Given the description of an element on the screen output the (x, y) to click on. 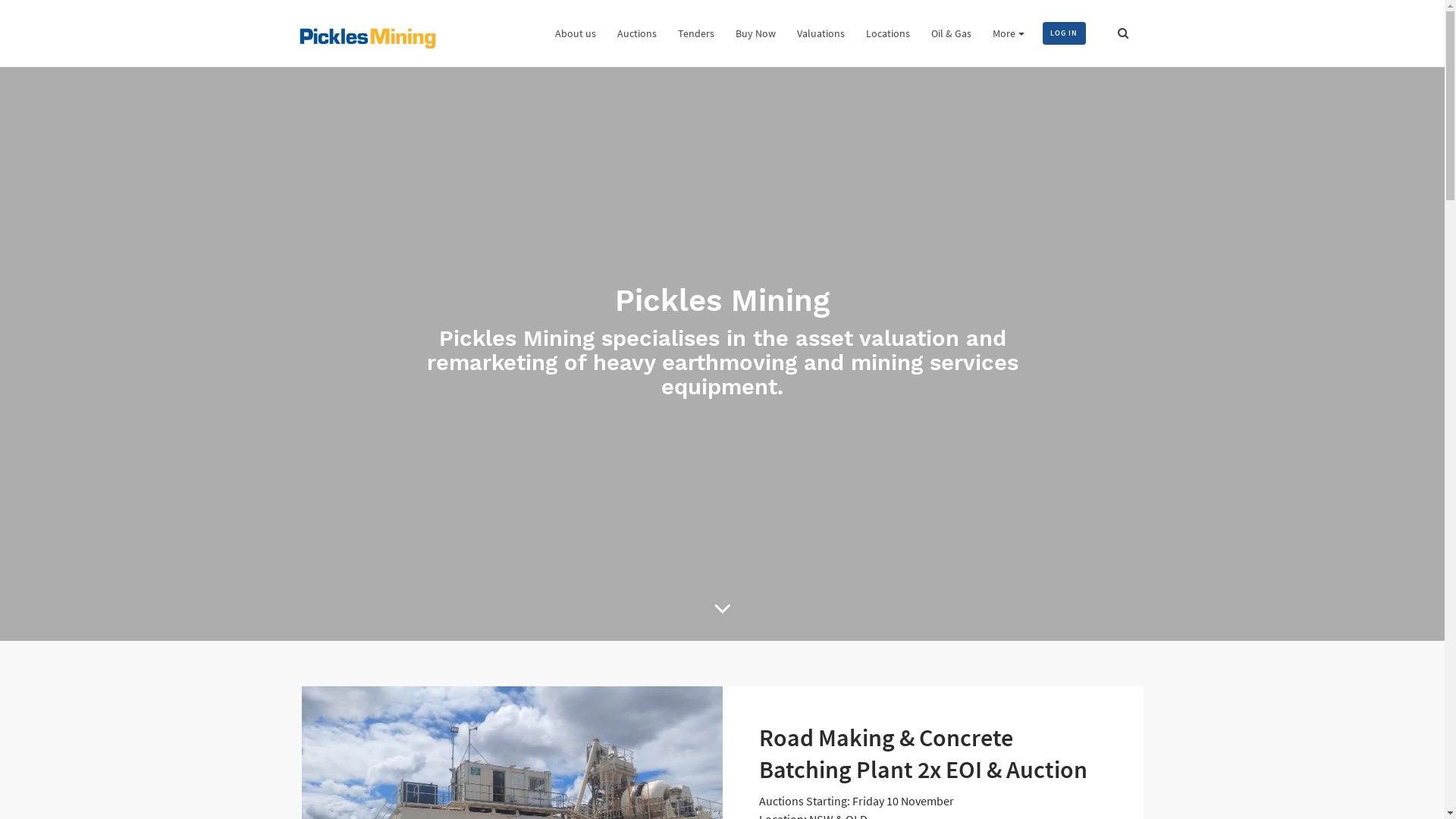
Valuations Element type: text (820, 32)
LOG IN Element type: text (1063, 32)
Auctions Element type: text (636, 32)
More Element type: text (1008, 32)
Oil & Gas Element type: text (951, 32)
Locations Element type: text (888, 32)
About us Element type: text (575, 32)
Buy Now Element type: text (755, 32)
Tenders Element type: text (695, 32)
